Given the description of an element on the screen output the (x, y) to click on. 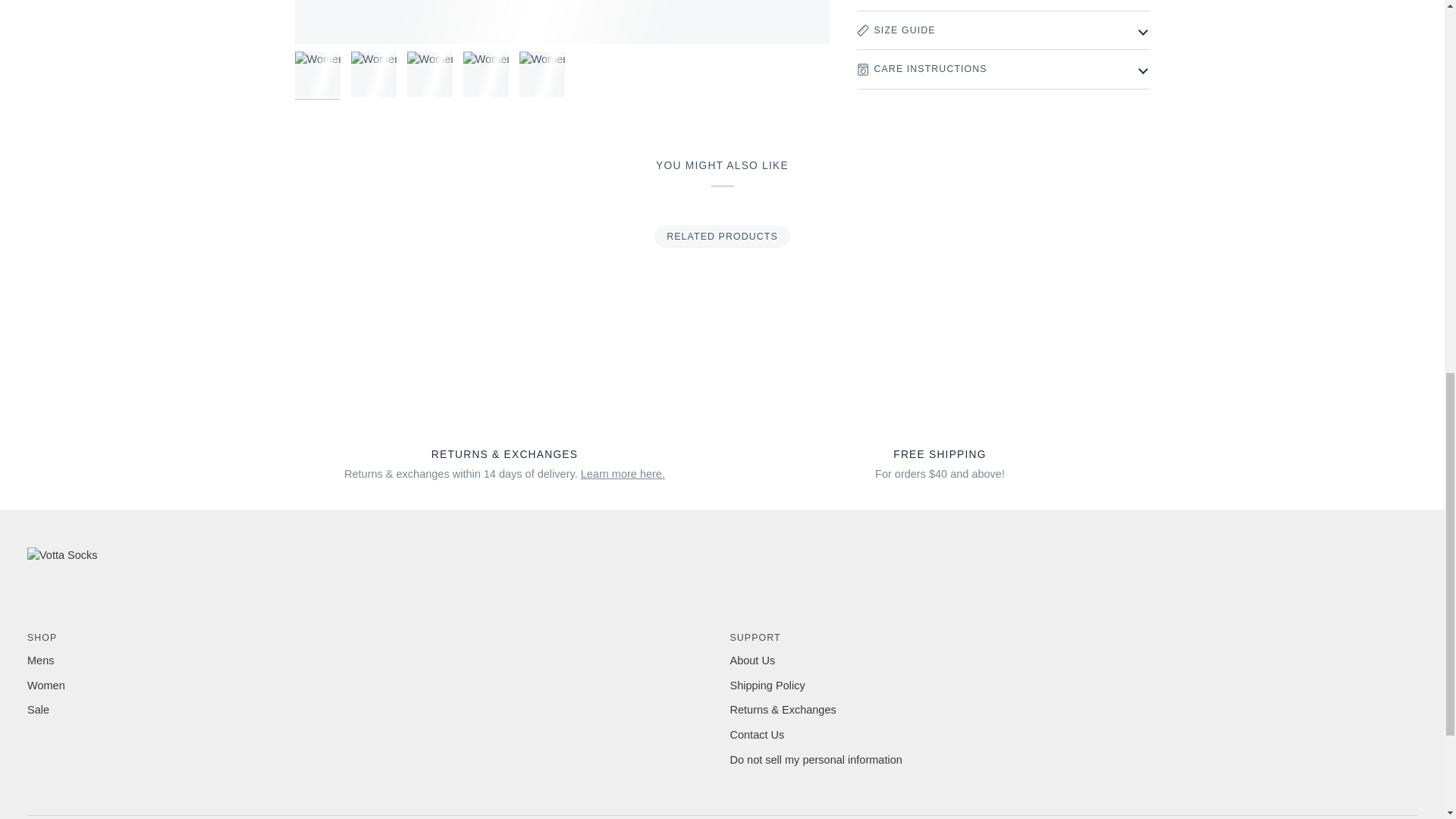
RELATED PRODUCTS (721, 236)
